Given the description of an element on the screen output the (x, y) to click on. 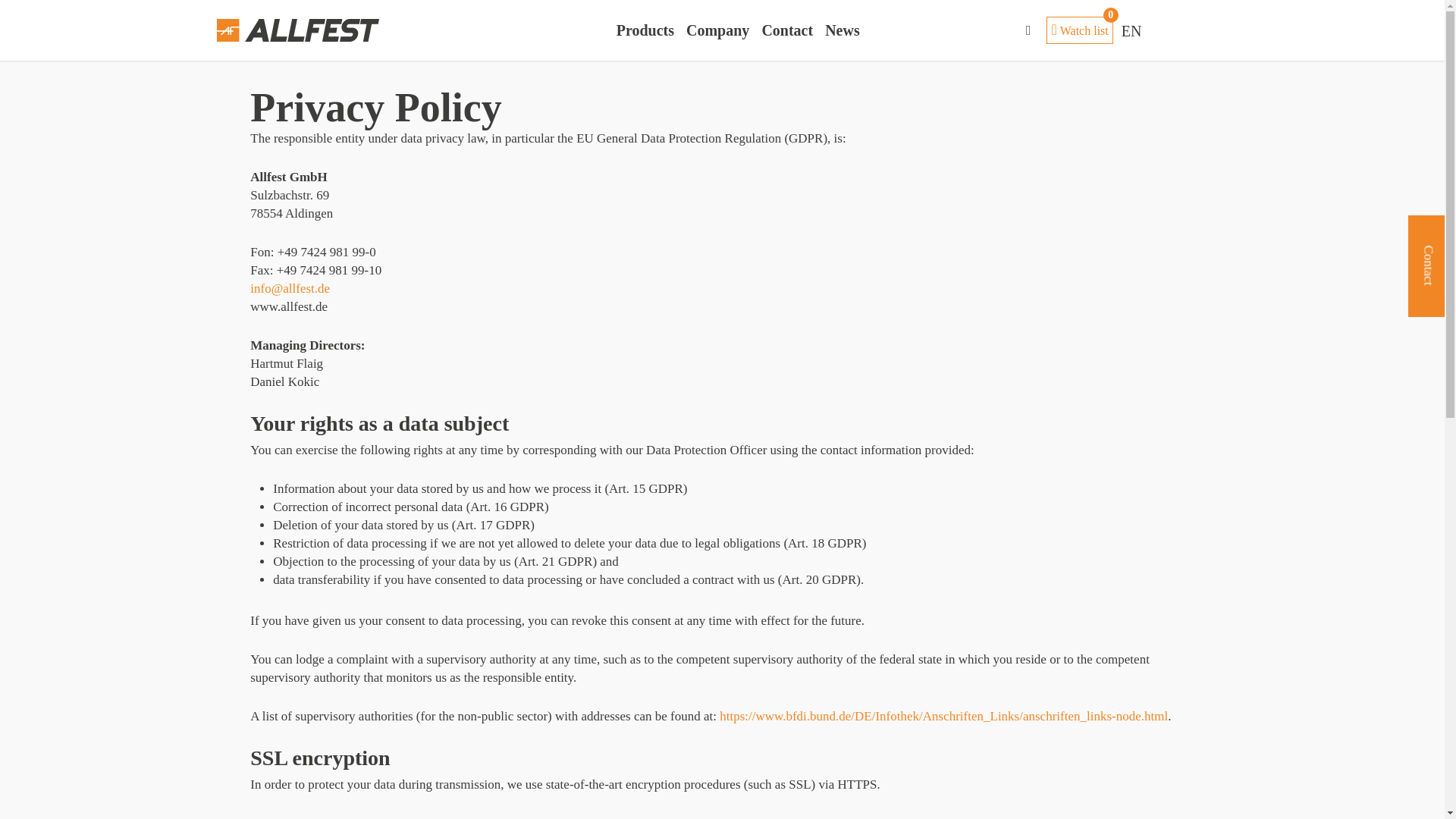
search (1027, 29)
News (842, 30)
Contact (786, 30)
EN (1132, 30)
Products (644, 30)
Company (1079, 30)
